Given the description of an element on the screen output the (x, y) to click on. 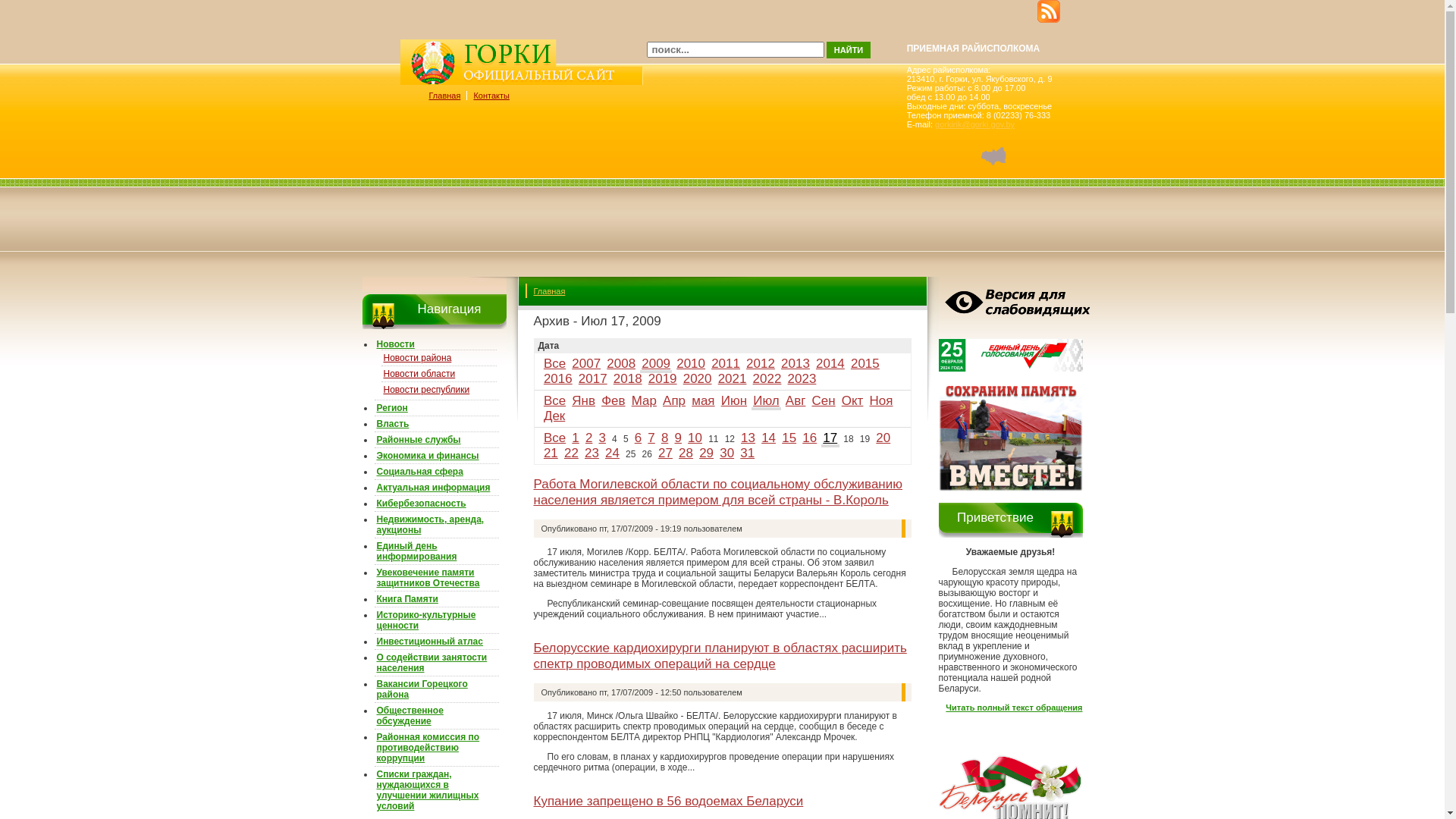
2007 Element type: text (585, 363)
2013 Element type: text (795, 363)
2011 Element type: text (725, 363)
2010 Element type: text (690, 363)
21 Element type: text (550, 452)
8 Element type: text (664, 437)
2023 Element type: text (801, 378)
17 Element type: text (829, 437)
2 Element type: text (588, 437)
30 Element type: text (726, 452)
3 Element type: text (602, 437)
20 Element type: text (882, 437)
2018 Element type: text (627, 378)
6 Element type: text (637, 437)
31 Element type: text (747, 452)
13 Element type: text (747, 437)
27 Element type: text (665, 452)
29 Element type: text (706, 452)
2017 Element type: text (592, 378)
2016 Element type: text (557, 378)
24 Element type: text (612, 452)
2014 Element type: text (829, 363)
10 Element type: text (694, 437)
2019 Element type: text (662, 378)
2021 Element type: text (732, 378)
15 Element type: text (788, 437)
2008 Element type: text (620, 363)
22 Element type: text (571, 452)
2020 Element type: text (697, 378)
2009 Element type: text (655, 363)
2012 Element type: text (760, 363)
9 Element type: text (677, 437)
1 Element type: text (574, 437)
14 Element type: text (768, 437)
2015 Element type: text (864, 363)
23 Element type: text (591, 452)
16 Element type: text (809, 437)
2022 Element type: text (767, 378)
28 Element type: text (685, 452)
7 Element type: text (650, 437)
gorkirik@gorki.gov.by Element type: text (974, 123)
